Given the description of an element on the screen output the (x, y) to click on. 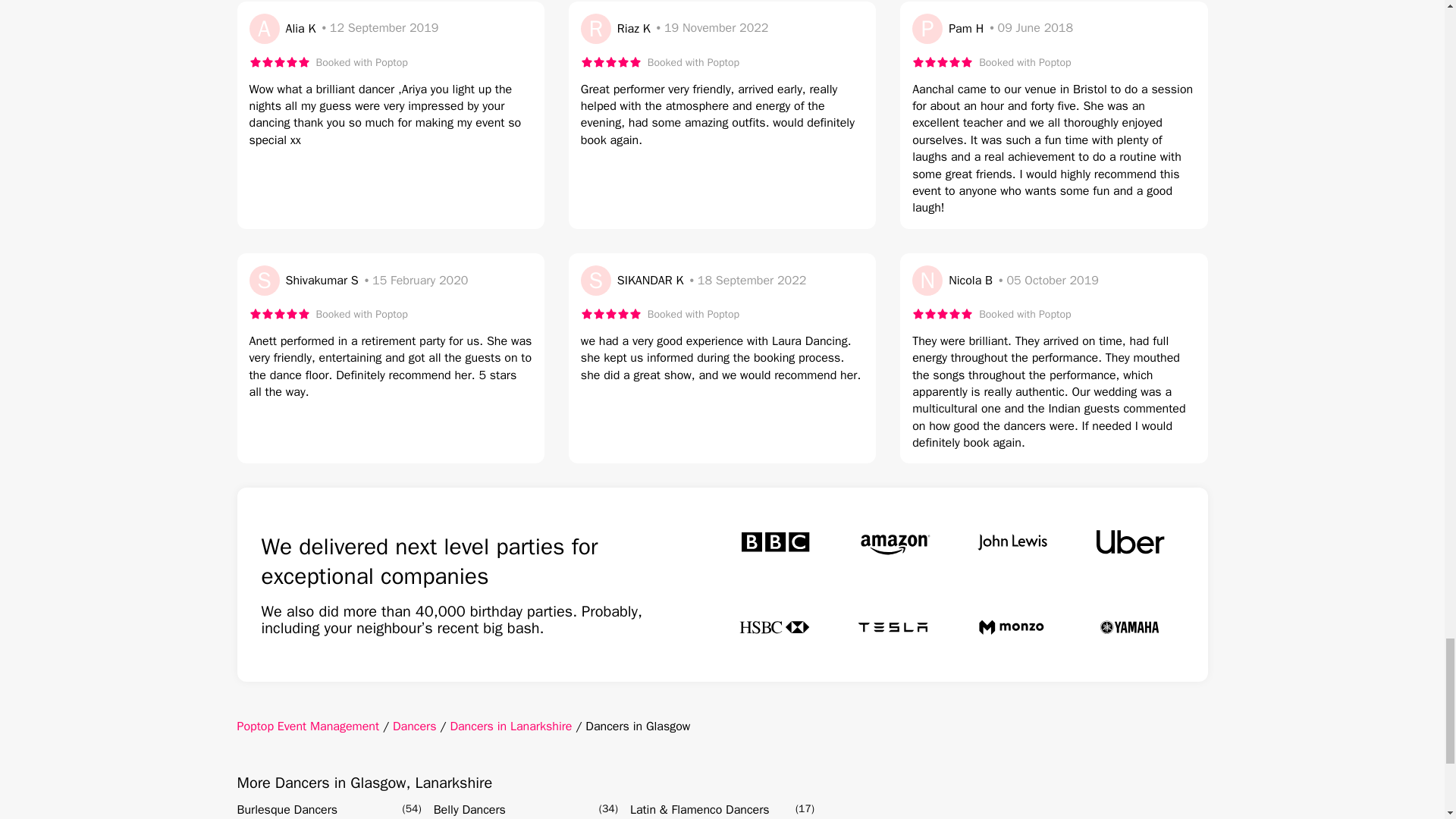
Belly Dancers (469, 809)
Dancers (414, 726)
Poptop Event Management (306, 726)
Dancers in Lanarkshire (510, 726)
Burlesque Dancers (286, 809)
